Given the description of an element on the screen output the (x, y) to click on. 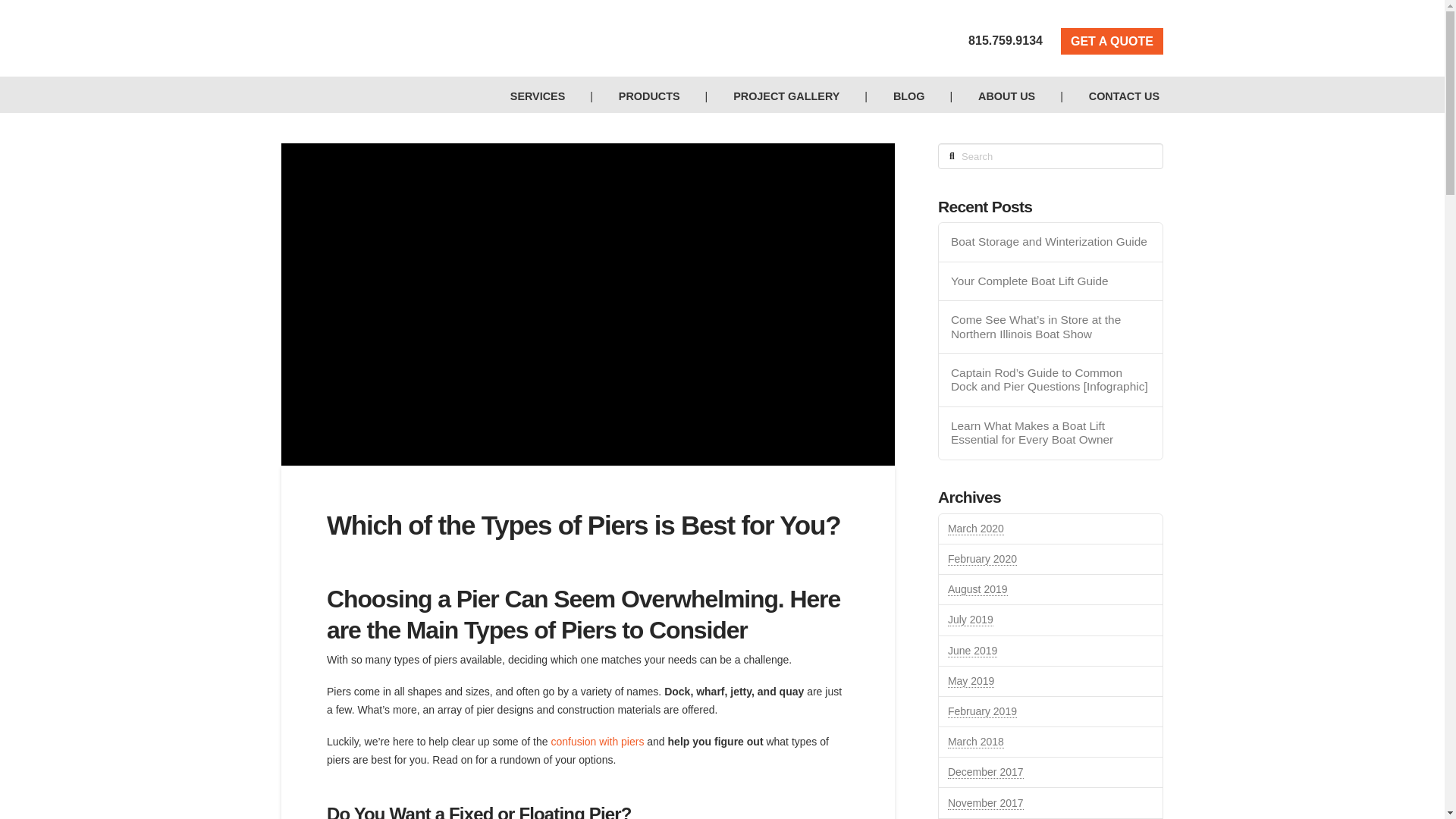
CONTACT US (1112, 95)
August 2019 (977, 589)
confusion with piers (596, 741)
SERVICES (526, 95)
February 2020 (981, 558)
March 2020 (975, 528)
ABOUT US (995, 95)
July 2019 (969, 619)
GET A QUOTE (1112, 41)
December 2017 (985, 771)
